Given the description of an element on the screen output the (x, y) to click on. 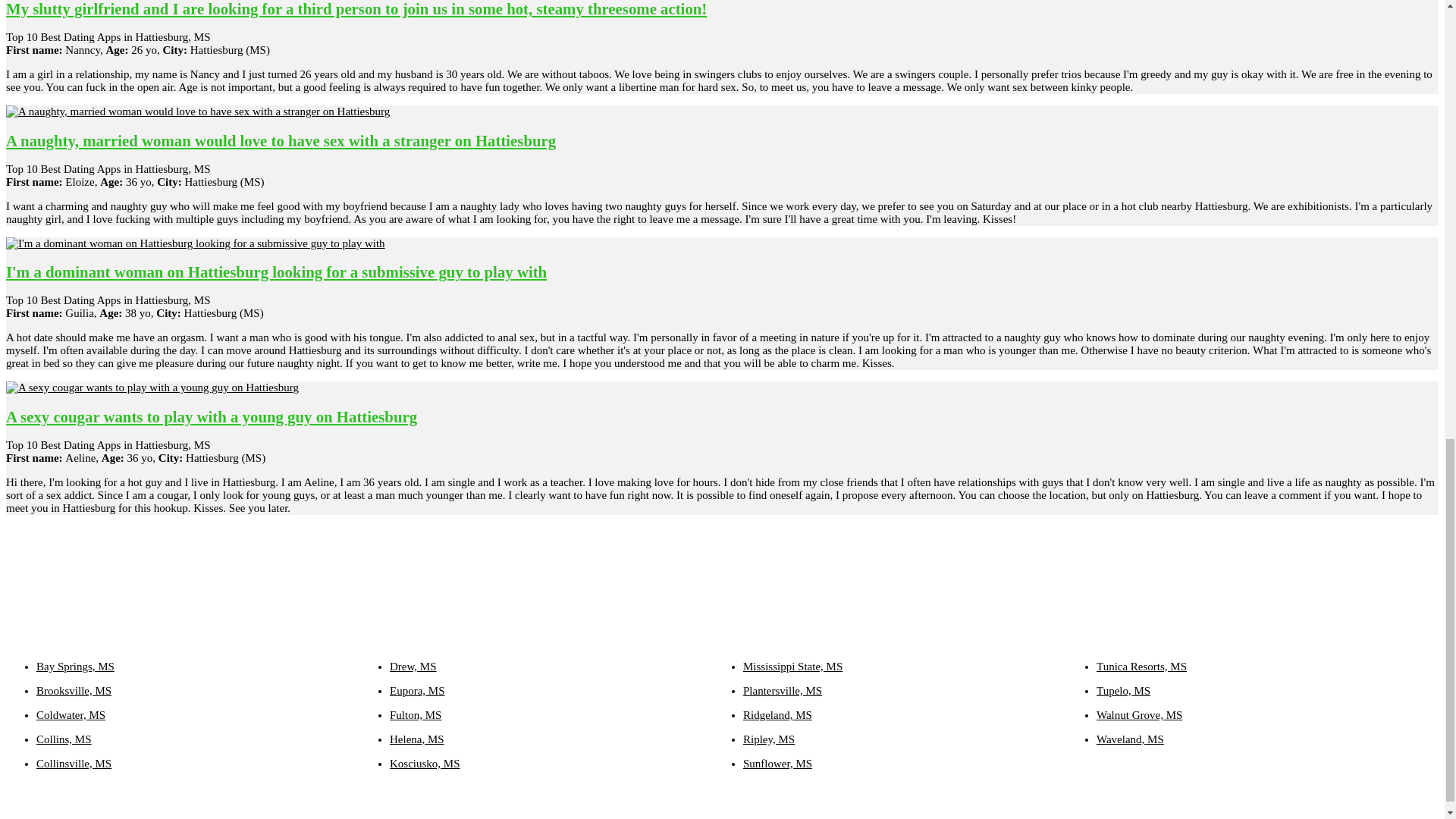
Ripley, MS (768, 739)
Helena, MS (417, 739)
Coldwater, MS (70, 714)
Ridgeland, MS (777, 714)
Collinsville, MS (74, 763)
Kosciusko, MS (425, 763)
Sunflower, MS (777, 763)
Mississippi State, MS (792, 666)
Tupelo, MS (1123, 690)
Fulton, MS (415, 714)
Tunica Resorts, MS (1141, 666)
A sexy cougar wants to play with a young guy on Hattiesburg (210, 416)
Bay Springs, MS (75, 666)
